Given the description of an element on the screen output the (x, y) to click on. 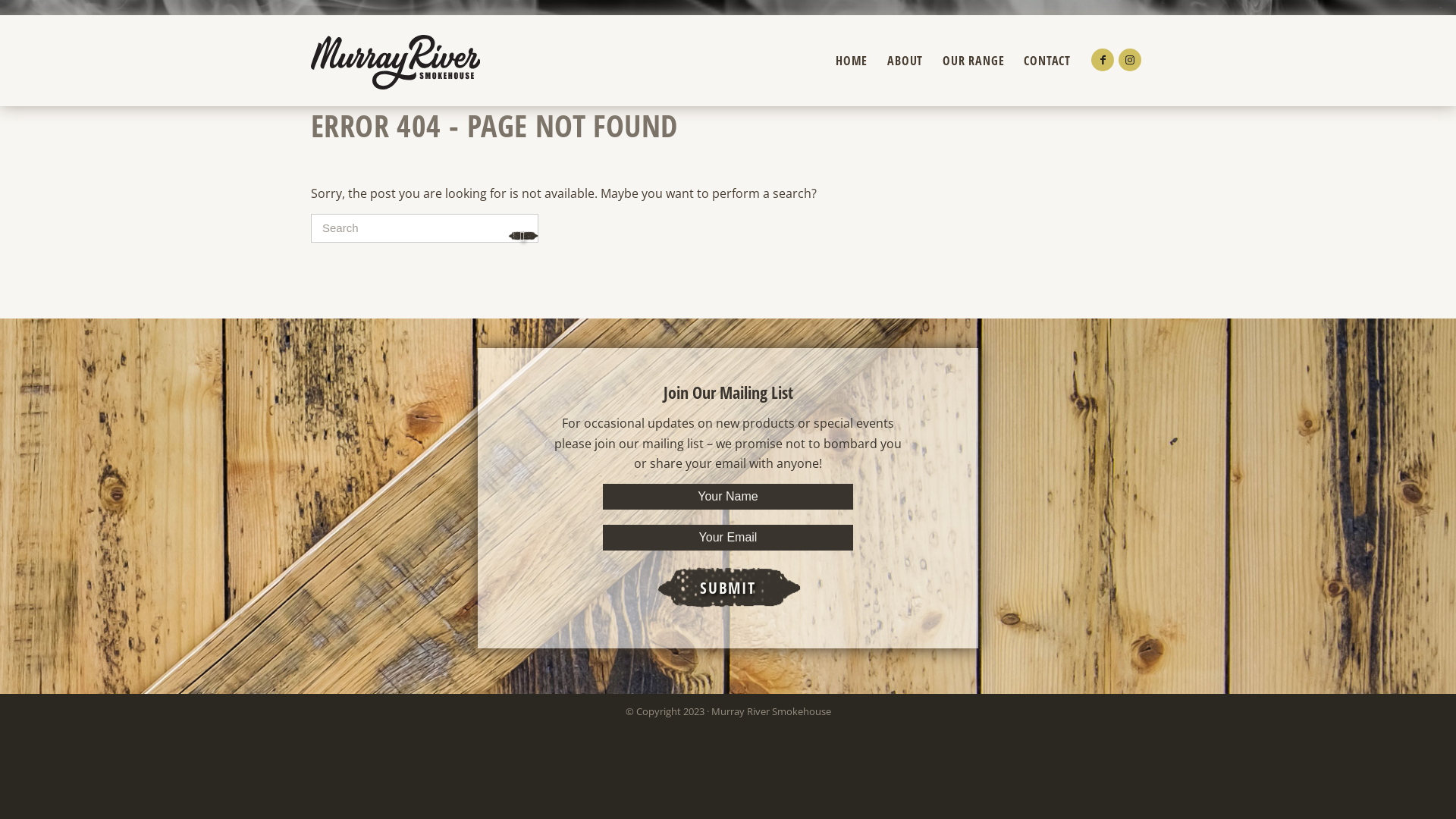
CONTACT Element type: text (1046, 60)
Submit Element type: text (727, 587)
OUR RANGE Element type: text (972, 60)
Facebook Element type: hover (1102, 59)
Instagram Element type: hover (1129, 59)
HOME Element type: text (851, 60)
ABOUT Element type: text (904, 60)
